Given the description of an element on the screen output the (x, y) to click on. 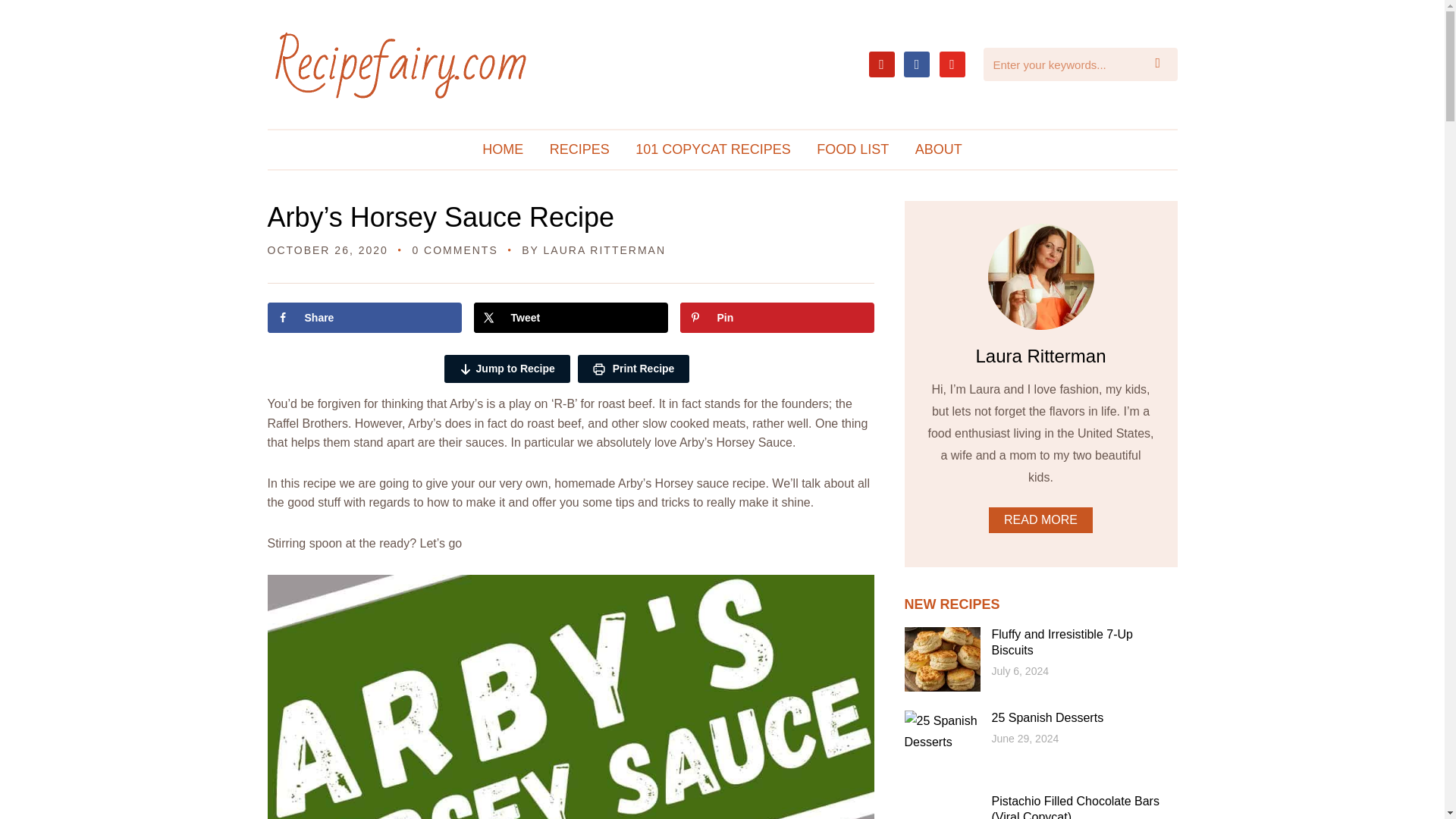
Default Label (951, 62)
Search (1161, 64)
Default Label (882, 62)
Save to Pinterest (776, 317)
Facebook (917, 62)
Share on X (569, 317)
RECIPES (579, 149)
Search (1161, 64)
FOOD LIST (852, 149)
HOME (502, 149)
